Given the description of an element on the screen output the (x, y) to click on. 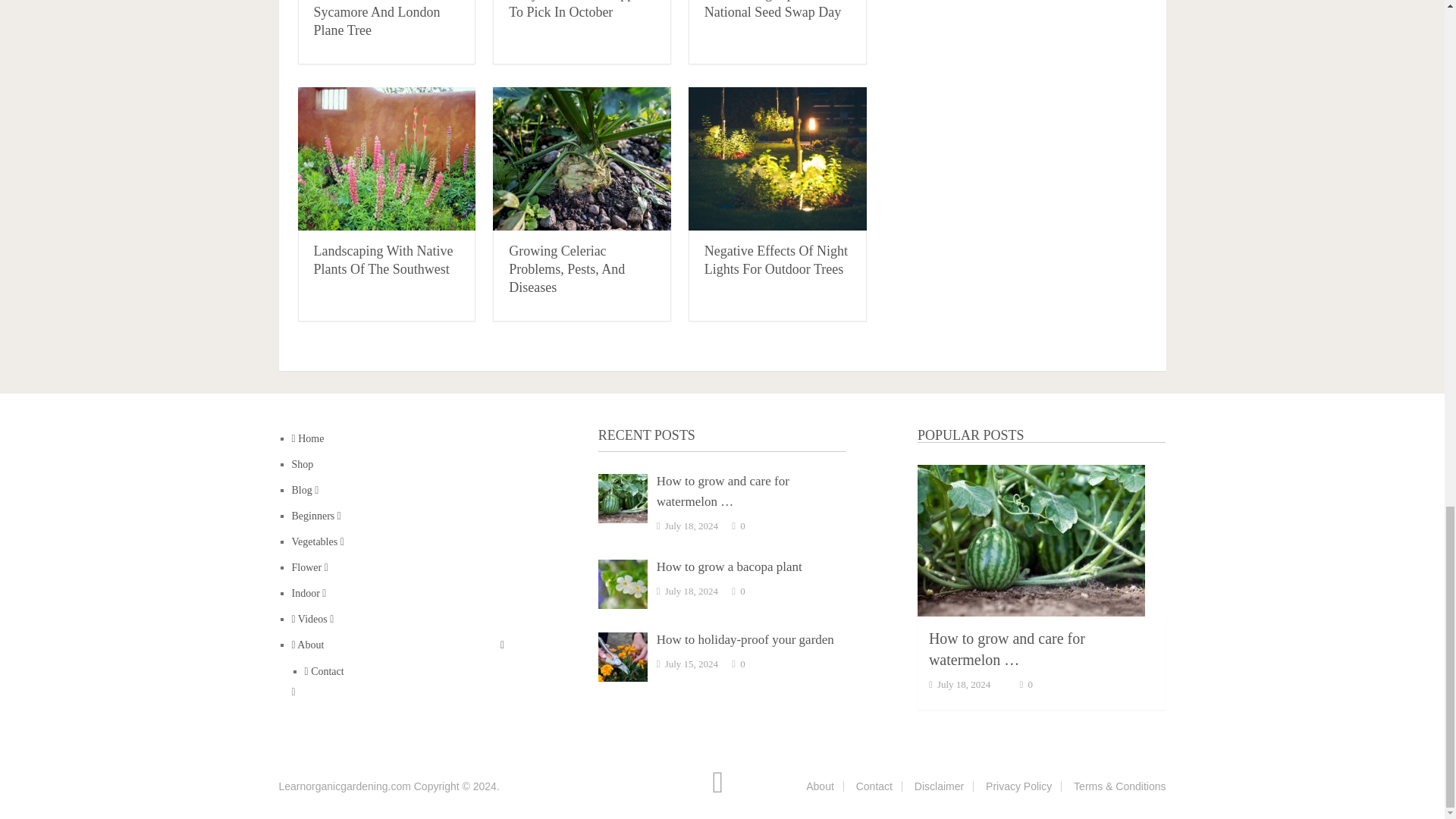
Difference Between Sycamore And London Plane Tree (377, 18)
Difference Between Sycamore And London Plane Tree (377, 18)
